Given the description of an element on the screen output the (x, y) to click on. 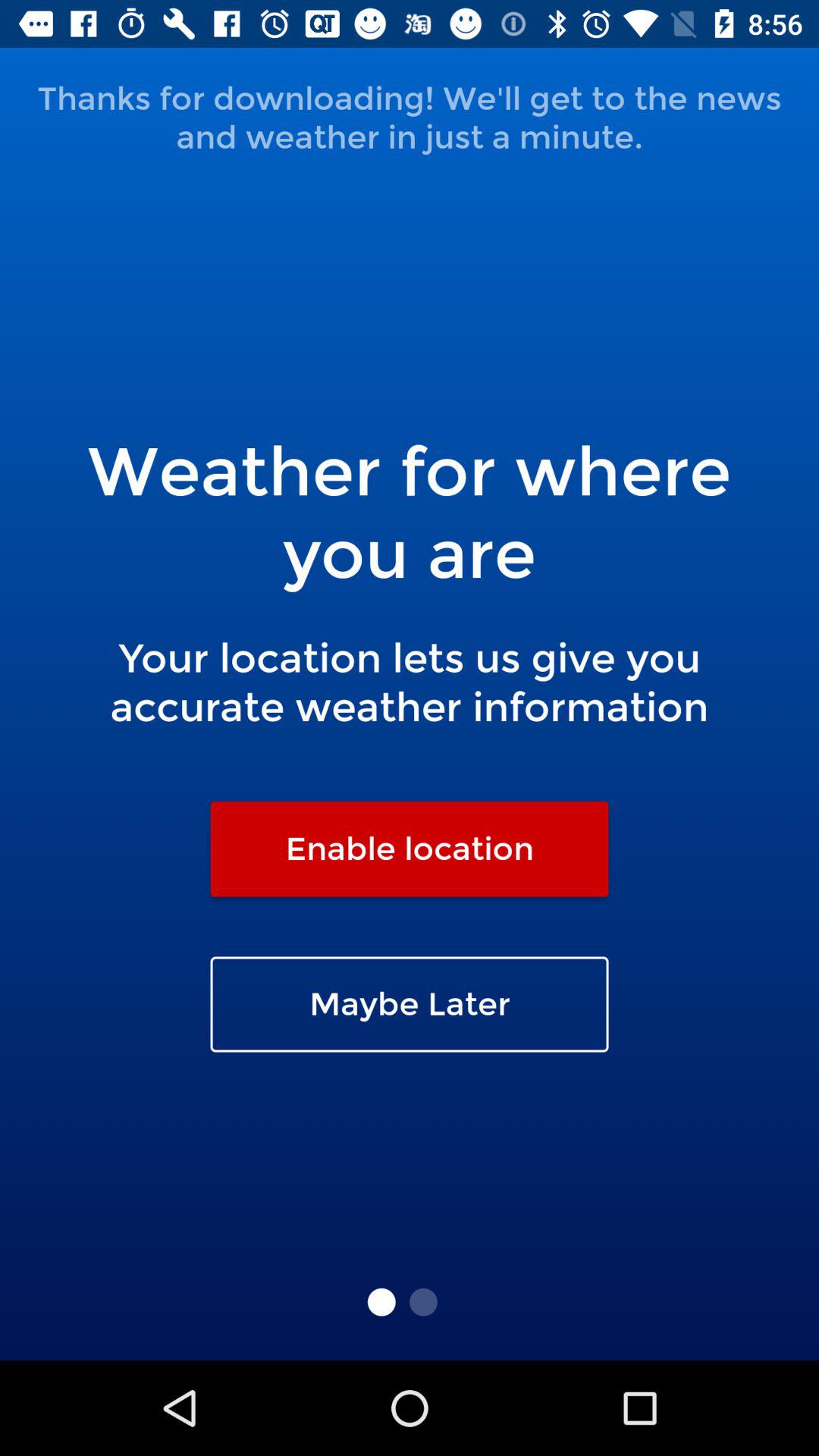
launch enable location item (409, 848)
